Given the description of an element on the screen output the (x, y) to click on. 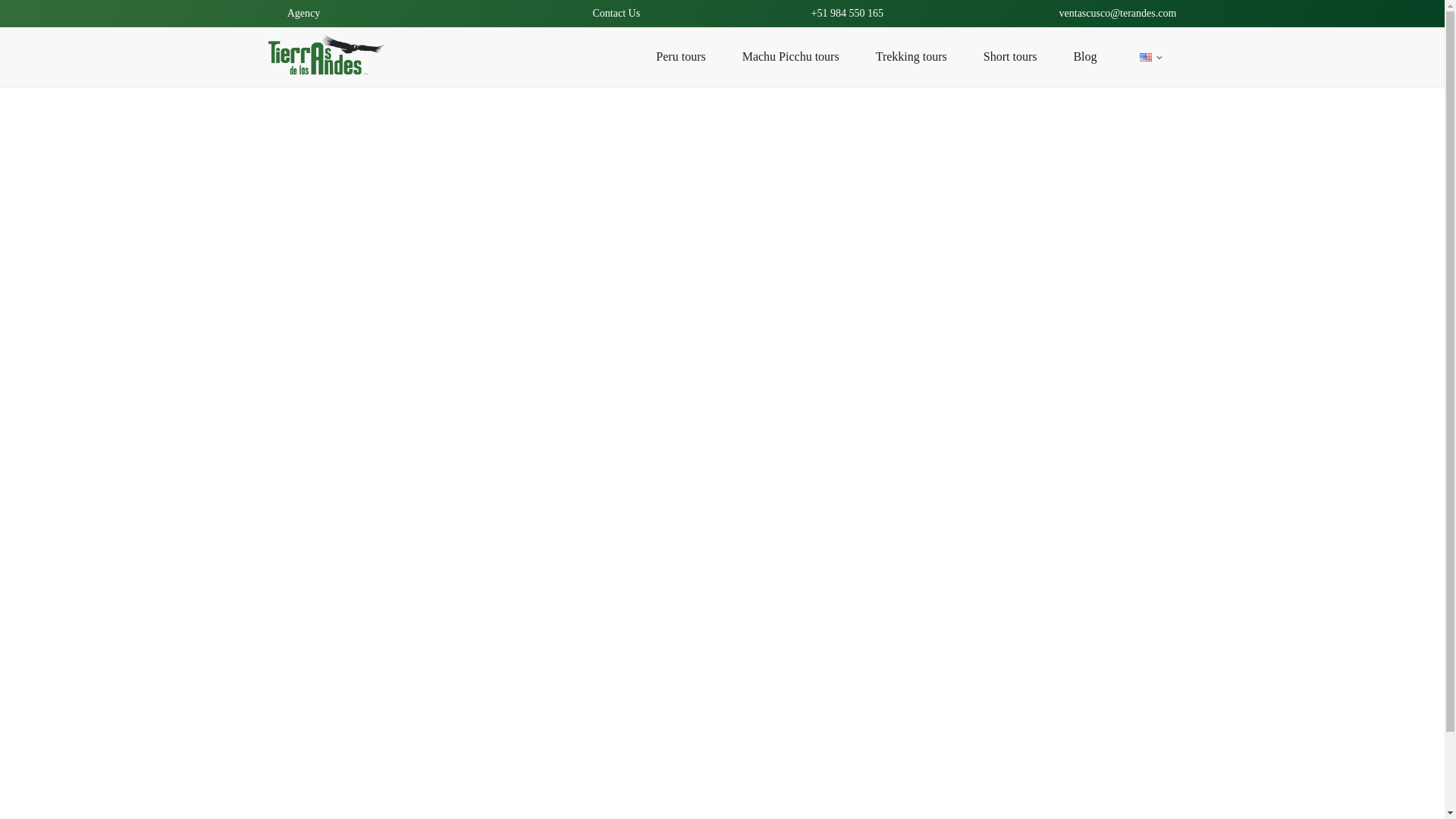
Machu Picchu tours (799, 56)
Short tours (1019, 56)
Contact Us (616, 13)
Agency (303, 13)
Peru tours (689, 56)
Trekking tours (920, 56)
